Given the description of an element on the screen output the (x, y) to click on. 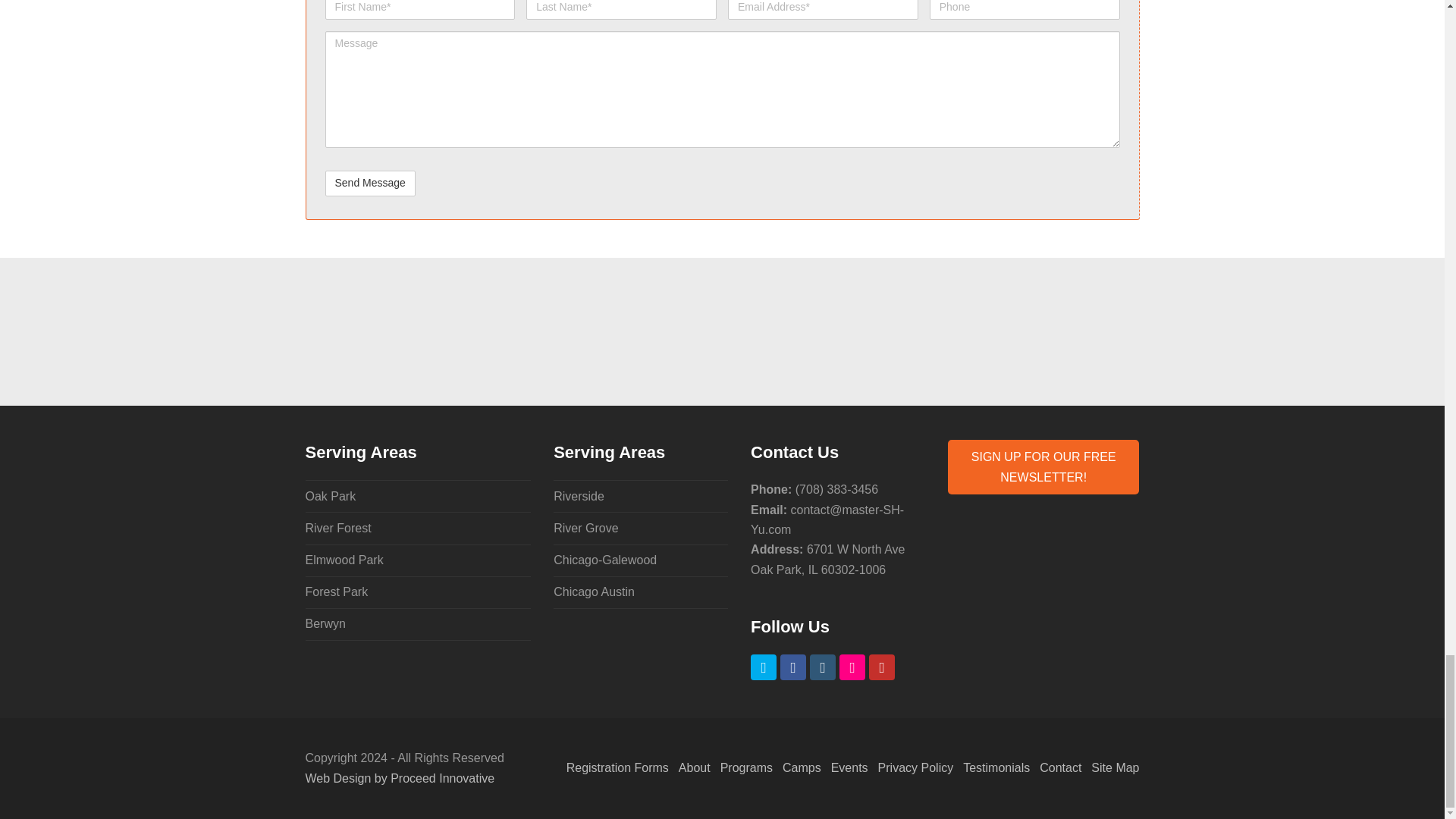
Flickr (852, 667)
Youtube (882, 667)
Send Message (369, 183)
Instagram (822, 667)
Facebook (793, 667)
Twitter (763, 667)
